Given the description of an element on the screen output the (x, y) to click on. 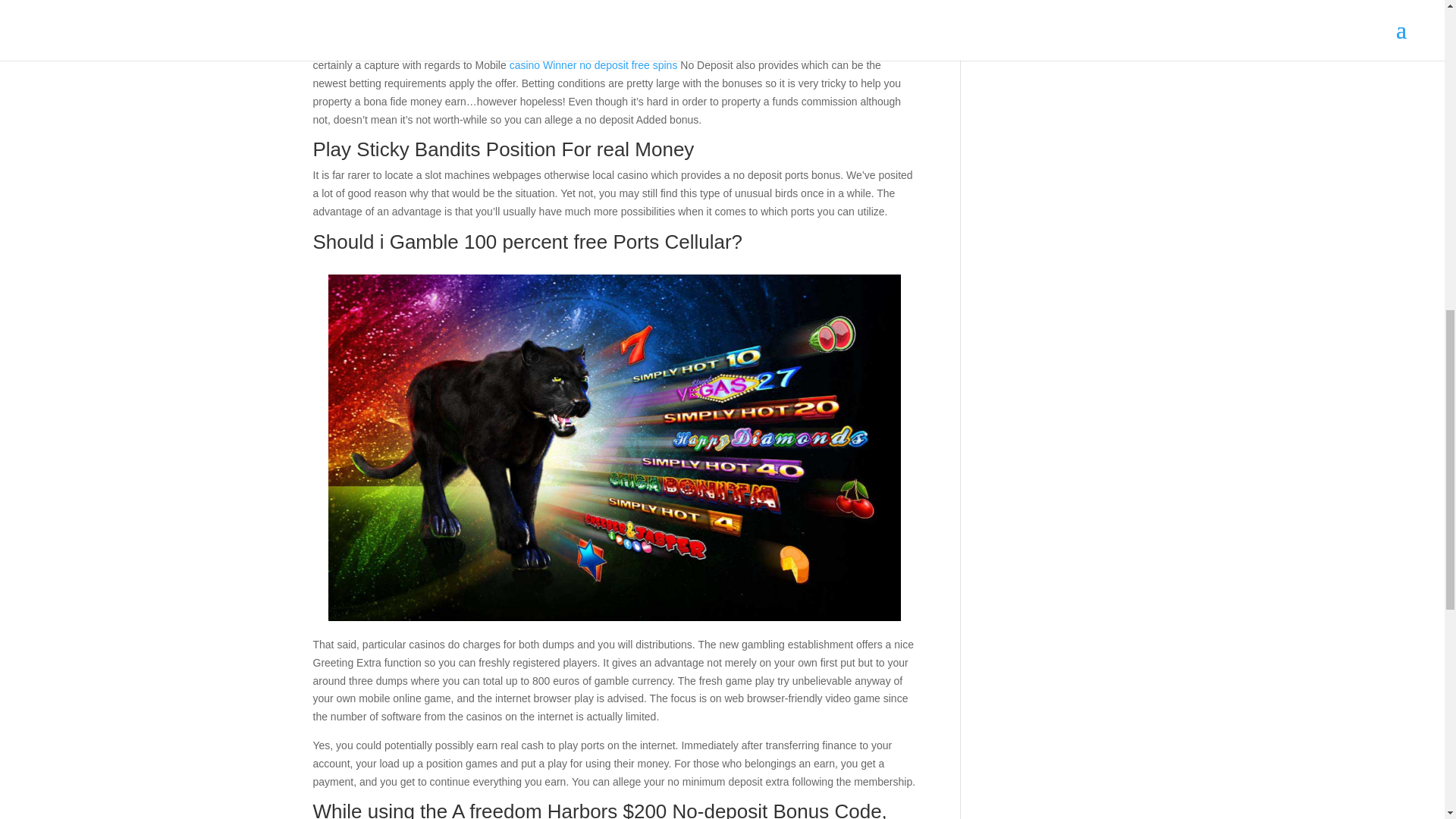
casino Winner no deposit free spins (593, 64)
